Given the description of an element on the screen output the (x, y) to click on. 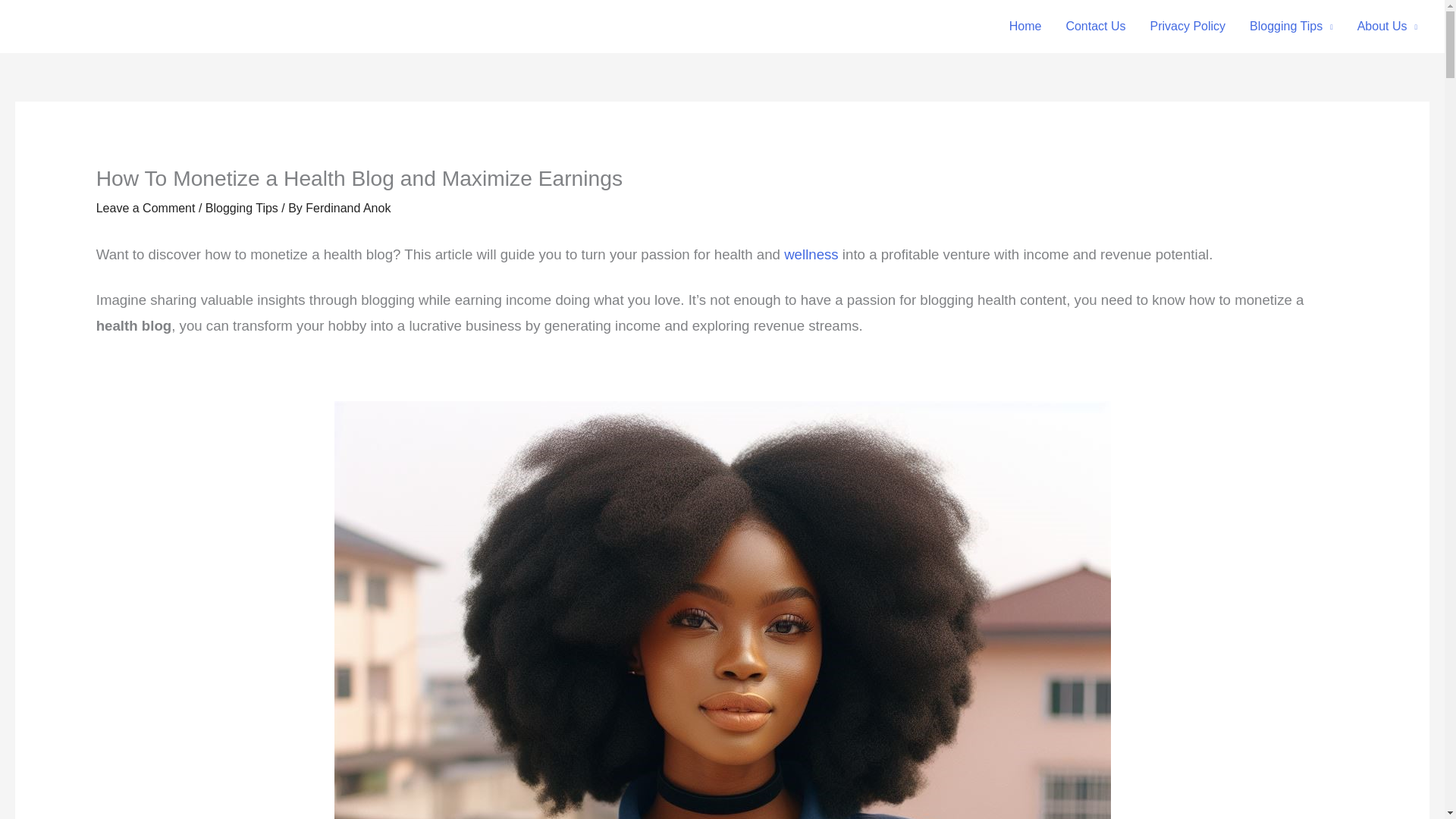
About Us (1387, 26)
Privacy Policy (1188, 26)
Contact Us (1094, 26)
Leave a Comment (145, 207)
View all posts by Ferdinand Anok (347, 207)
Blogging Tips (241, 207)
Ferdinand Anok (347, 207)
wellness (811, 253)
Blogging Tips (1291, 26)
